Given the description of an element on the screen output the (x, y) to click on. 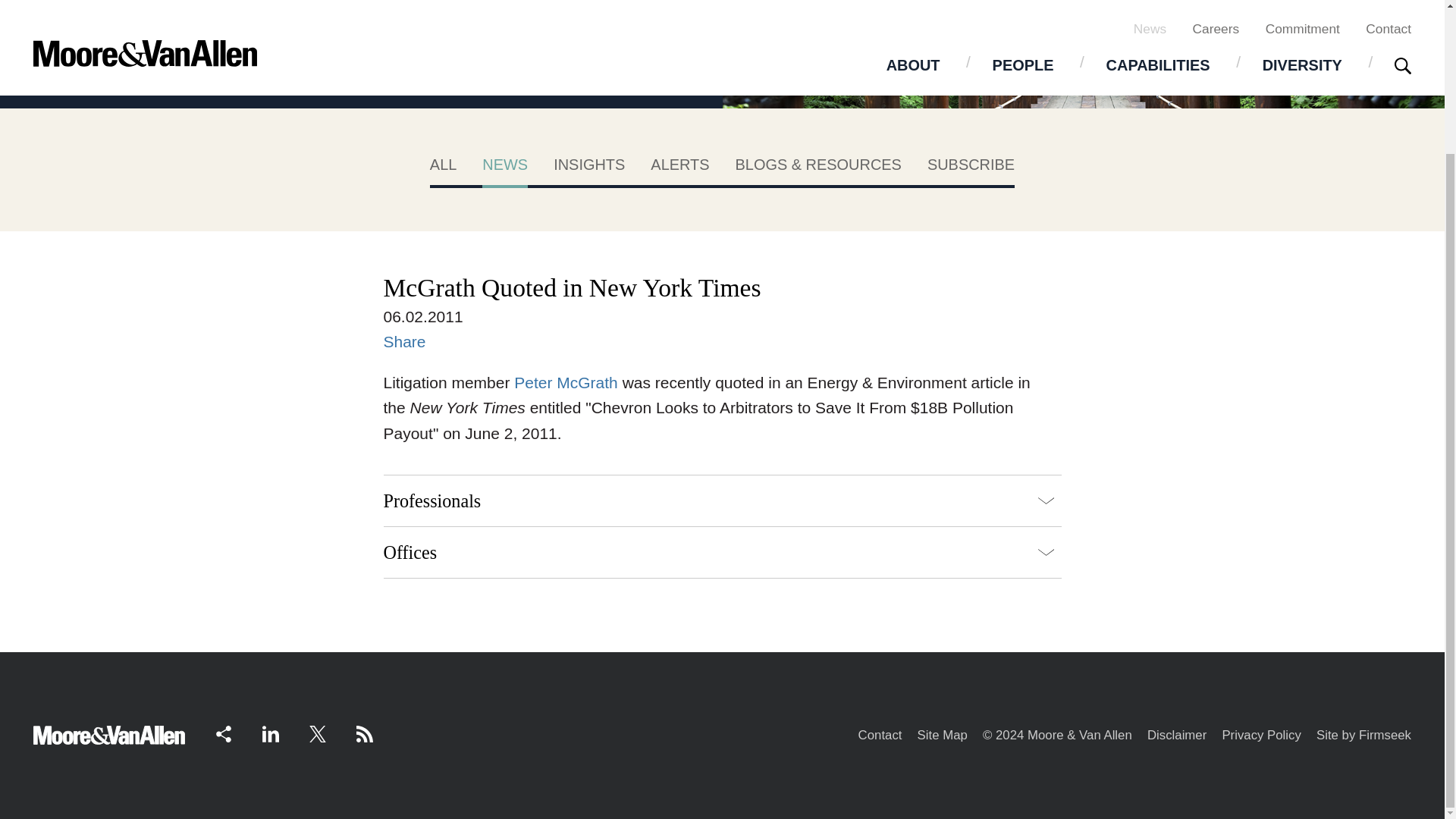
Share (405, 341)
Share (223, 733)
Share (1422, 30)
LinkedIn (270, 733)
RSS (364, 733)
